Given the description of an element on the screen output the (x, y) to click on. 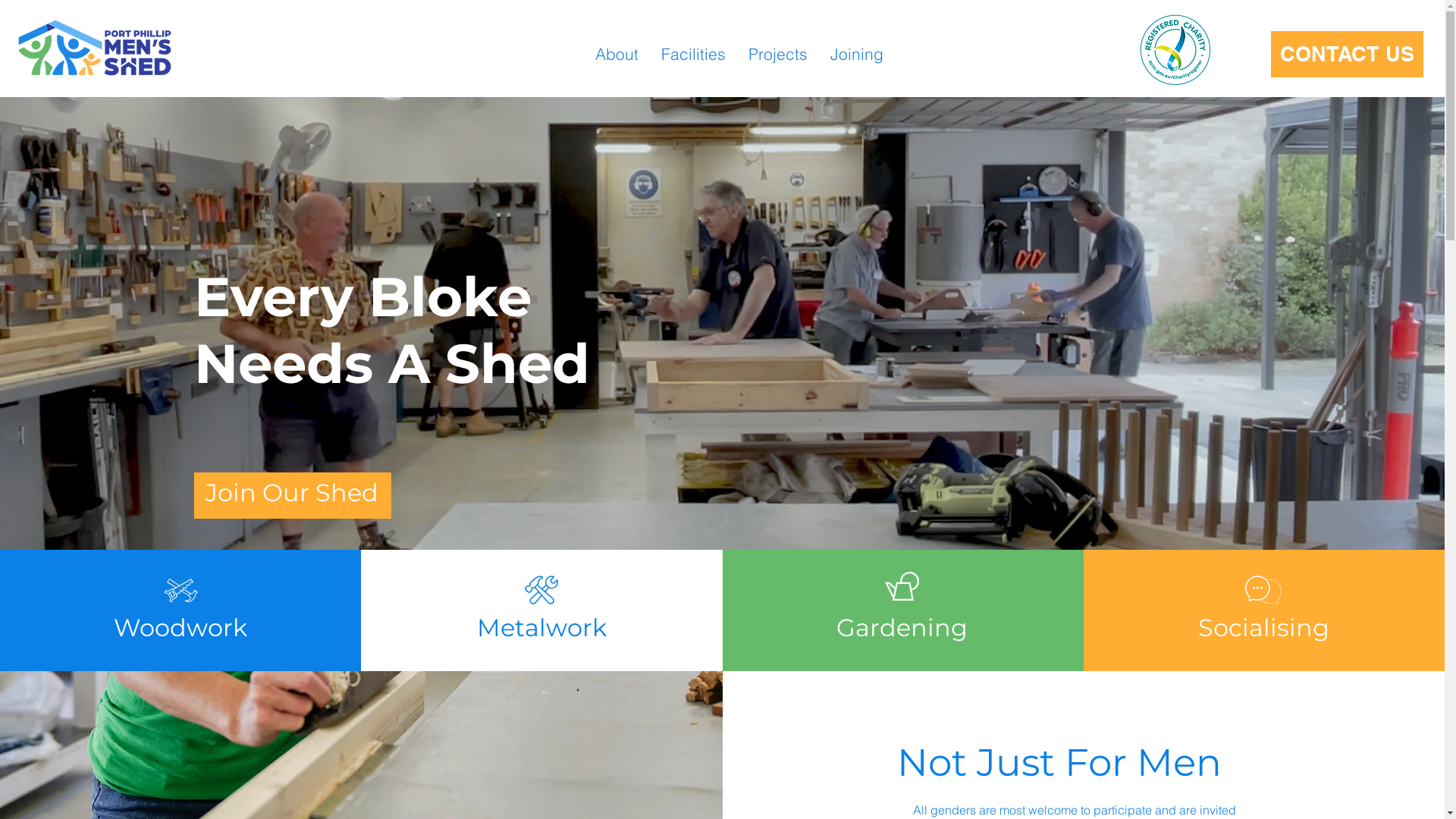
Gardening Element type: text (901, 627)
Socialising Element type: text (1263, 627)
Woodwork Element type: text (180, 627)
Metalwork Element type: text (541, 627)
Joining Element type: text (856, 54)
CONTACT US Element type: text (1346, 54)
Projects Element type: text (778, 54)
Join Our Shed Element type: text (291, 494)
Facilities Element type: text (693, 54)
About Element type: text (616, 54)
